Given the description of an element on the screen output the (x, y) to click on. 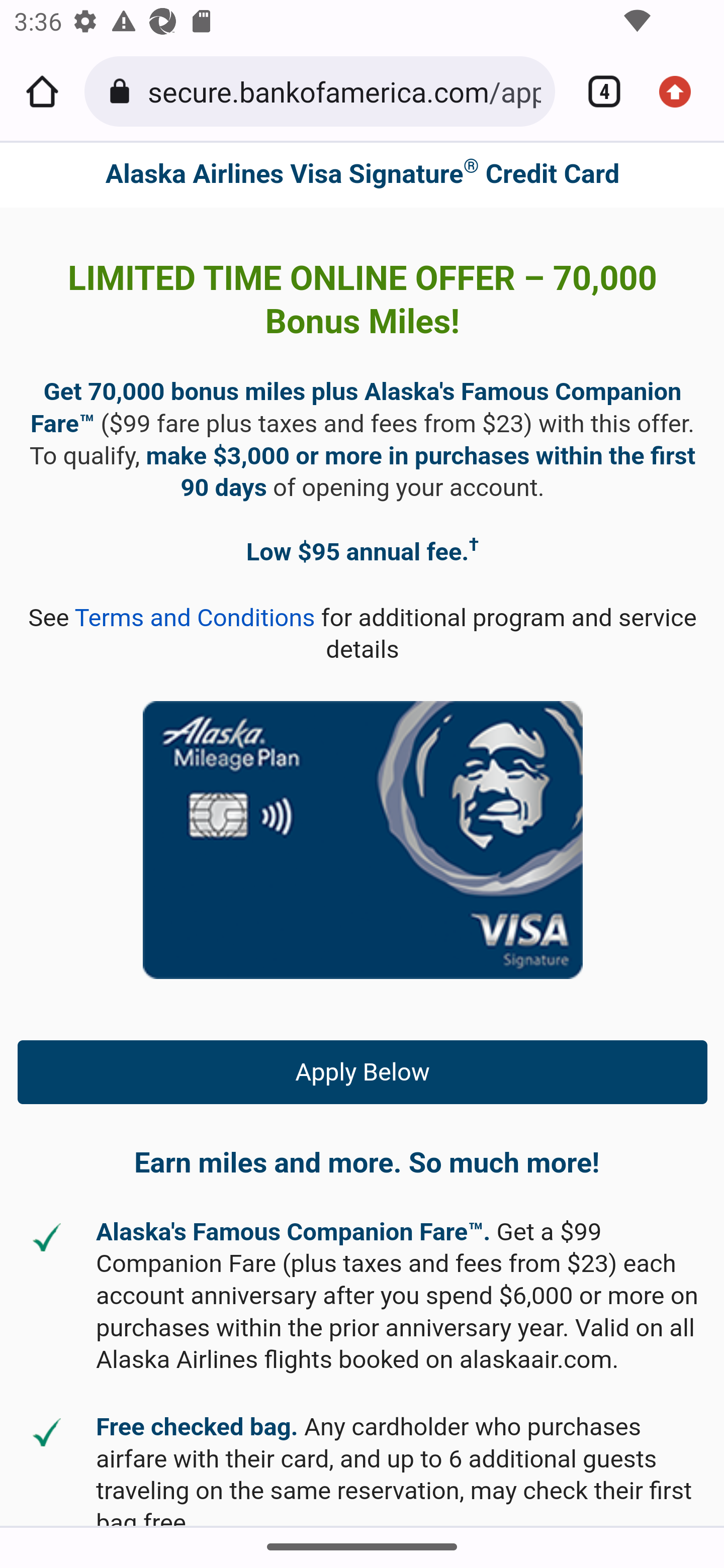
Home (42, 91)
Connection is secure (122, 91)
Switch or close tabs (597, 91)
Update available. More options (681, 91)
Terms and Conditions (195, 617)
Apply Below (362, 1071)
